Given the description of an element on the screen output the (x, y) to click on. 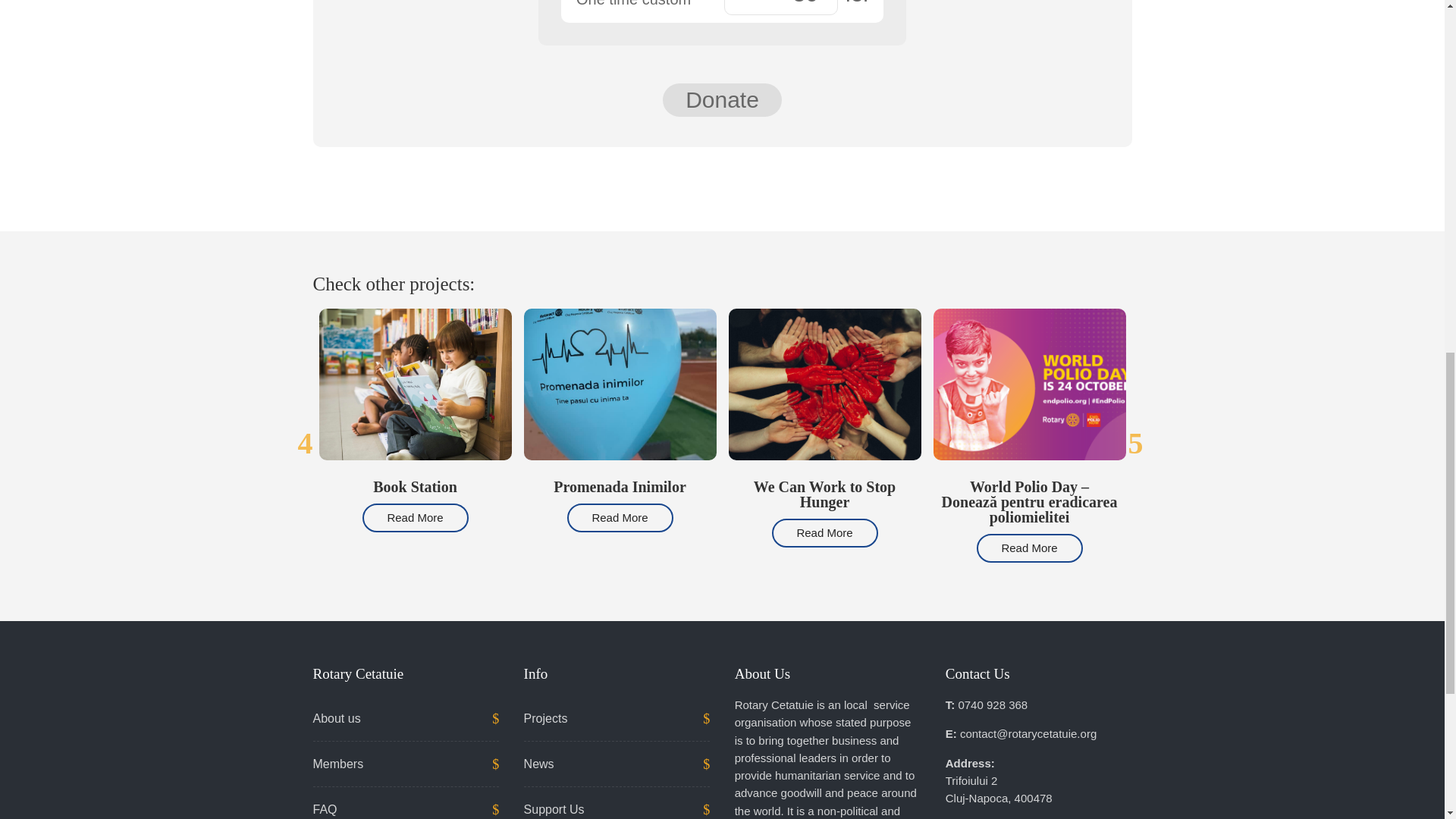
Previous (304, 442)
Donate (721, 100)
30 (780, 7)
